Given the description of an element on the screen output the (x, y) to click on. 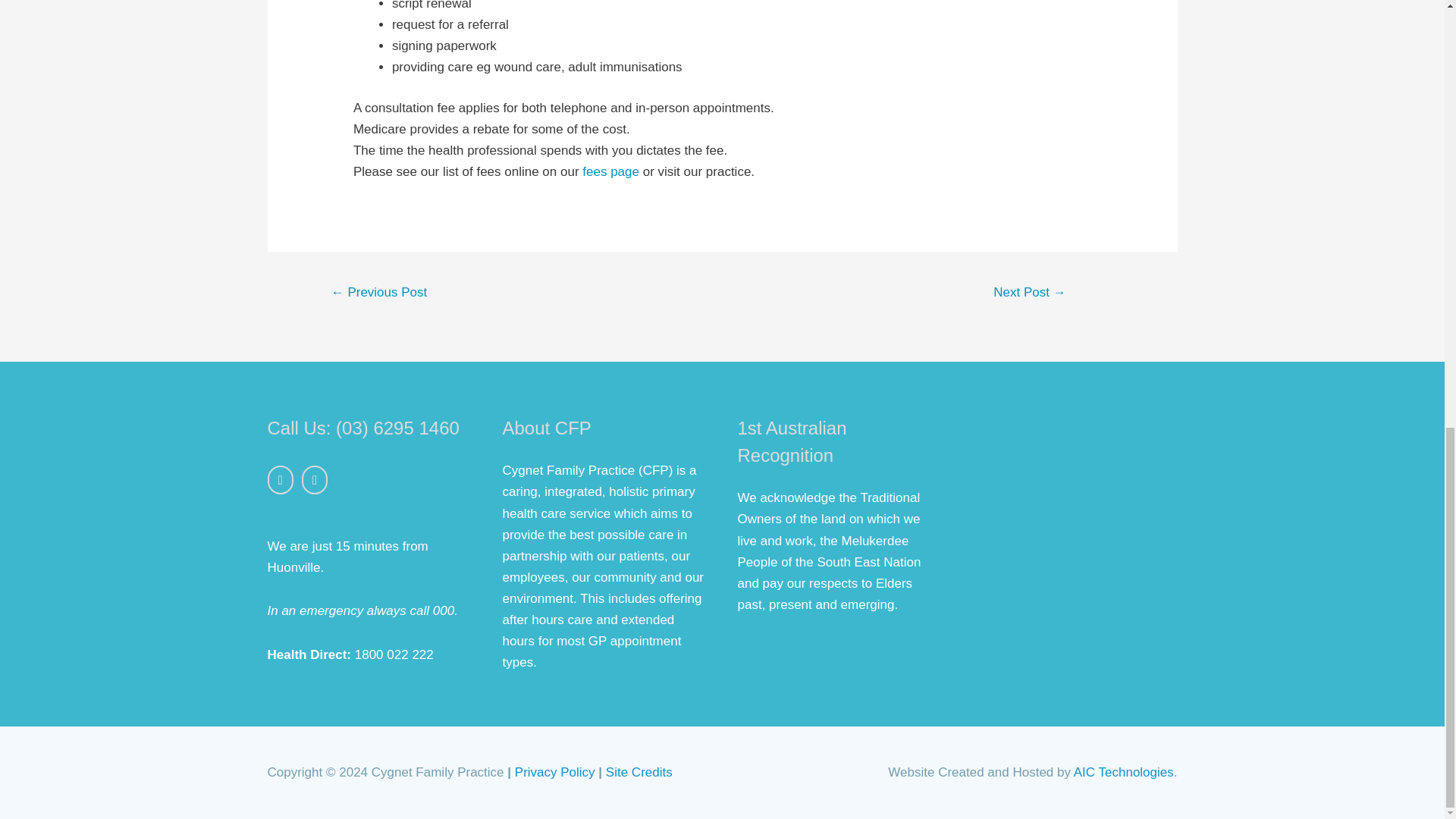
Site Credits (638, 771)
Cygnet Family Practice on Facebook (279, 480)
Urgent and After-Hours Service (378, 294)
fees page (610, 171)
Privacy Policy (555, 771)
AIC Technologies (1123, 771)
Cygnet Family Practice on Google (314, 480)
